Given the description of an element on the screen output the (x, y) to click on. 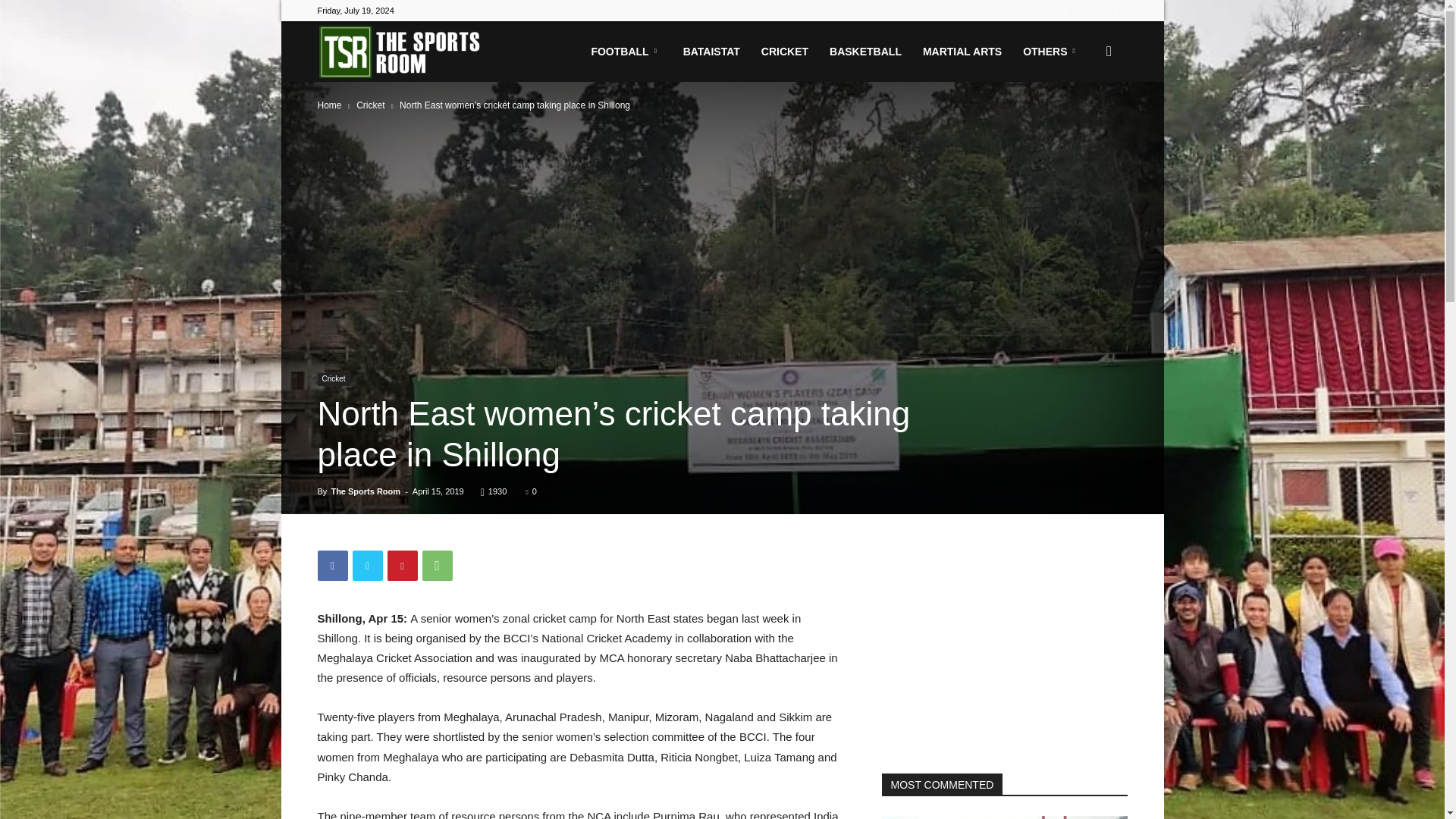
Instagram (1090, 10)
Twitter (366, 565)
The Sports Room (401, 51)
Facebook (1065, 10)
View all posts in Cricket (370, 104)
CRICKET (784, 51)
Pinterest (401, 565)
Facebook (332, 565)
Search (1085, 124)
BATAISTAT (711, 51)
WhatsApp (436, 565)
FOOTBALL (625, 51)
Youtube (1114, 10)
